Given the description of an element on the screen output the (x, y) to click on. 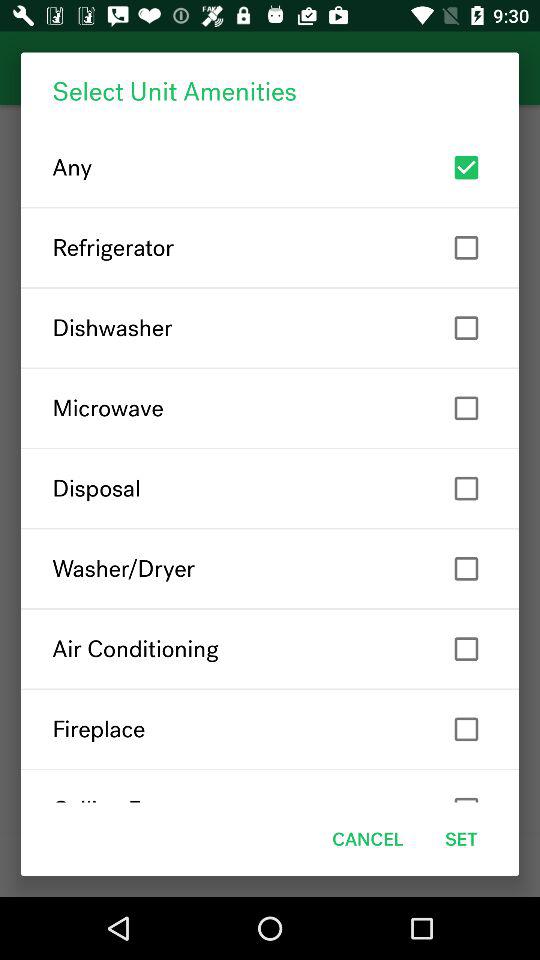
press the ceiling fan item (270, 786)
